Given the description of an element on the screen output the (x, y) to click on. 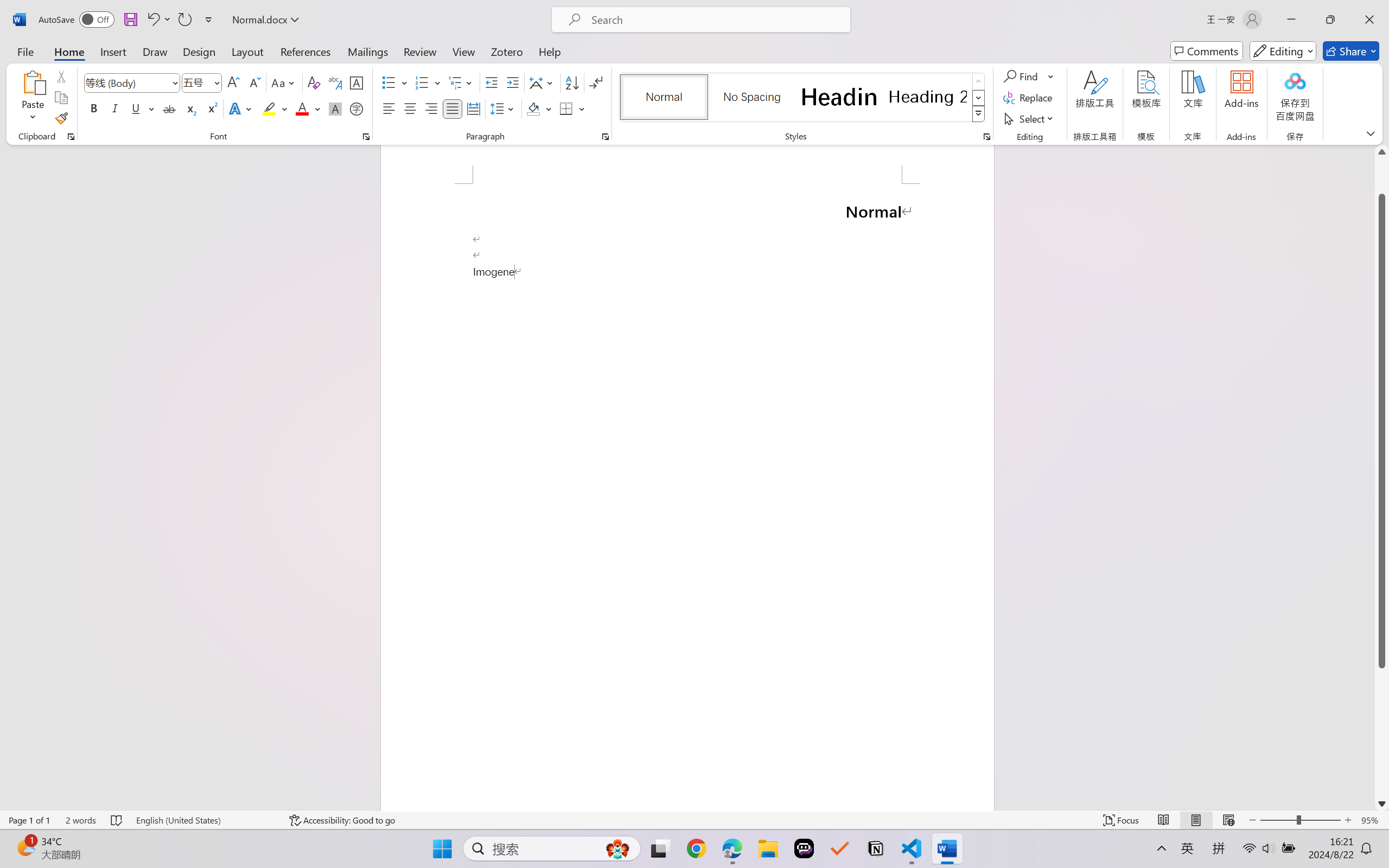
Italic (115, 108)
Page Number Page 1 of 1 (29, 819)
Page 1 content (687, 497)
Clear Formatting (313, 82)
Styles... (986, 136)
Undo Style (152, 19)
Multilevel List (461, 82)
Strikethrough (169, 108)
Cut (60, 75)
Align Right (431, 108)
